Given the description of an element on the screen output the (x, y) to click on. 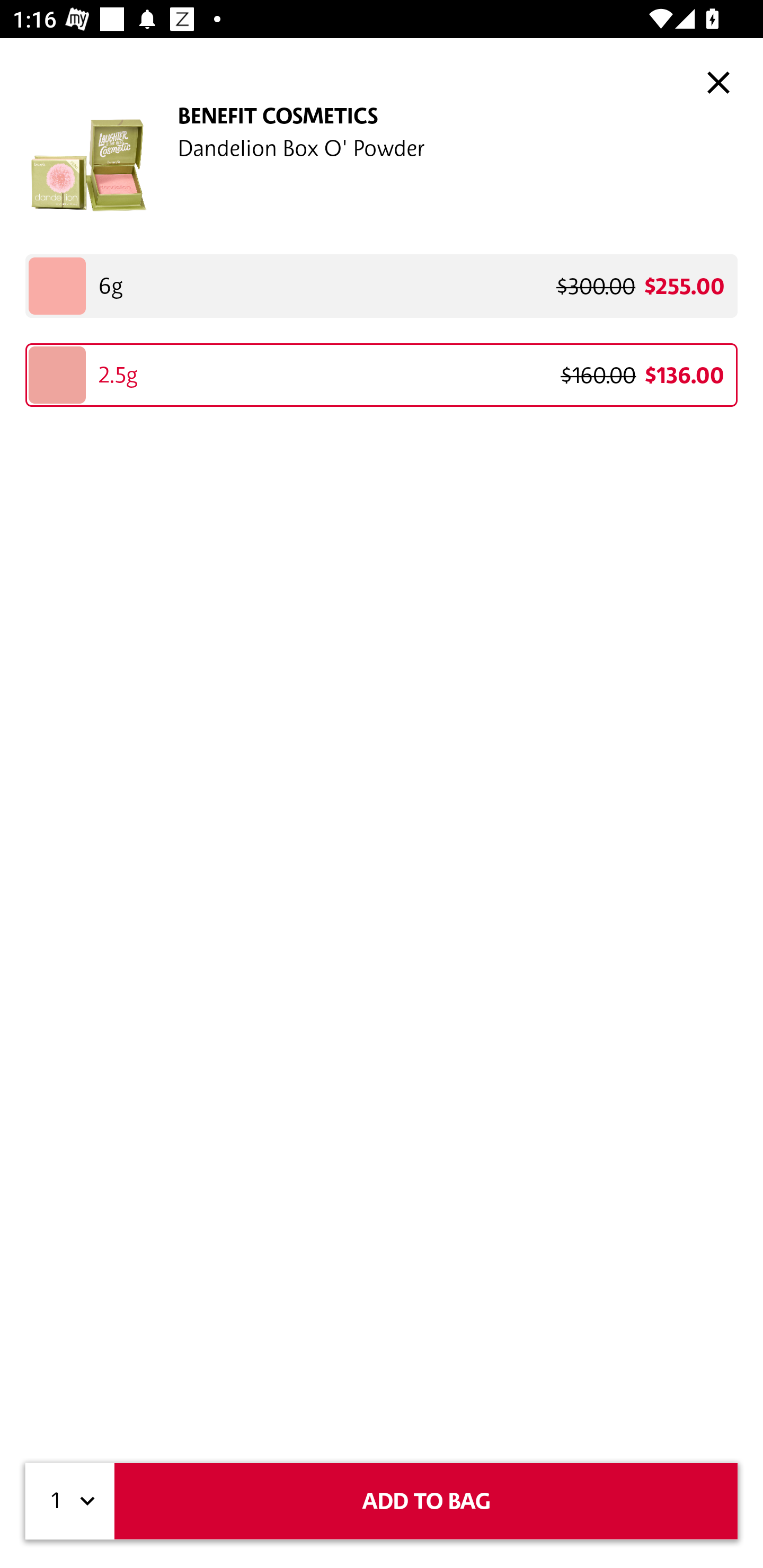
Bag (724, 81)
BENEFIT COSMETICS Dandelion Box O' Powder (381, 164)
6g $300.00 $255.00 (381, 285)
2.5g $160.00 $136.00 (381, 375)
1 (69, 1500)
ADD TO BAG (425, 1500)
